Given the description of an element on the screen output the (x, y) to click on. 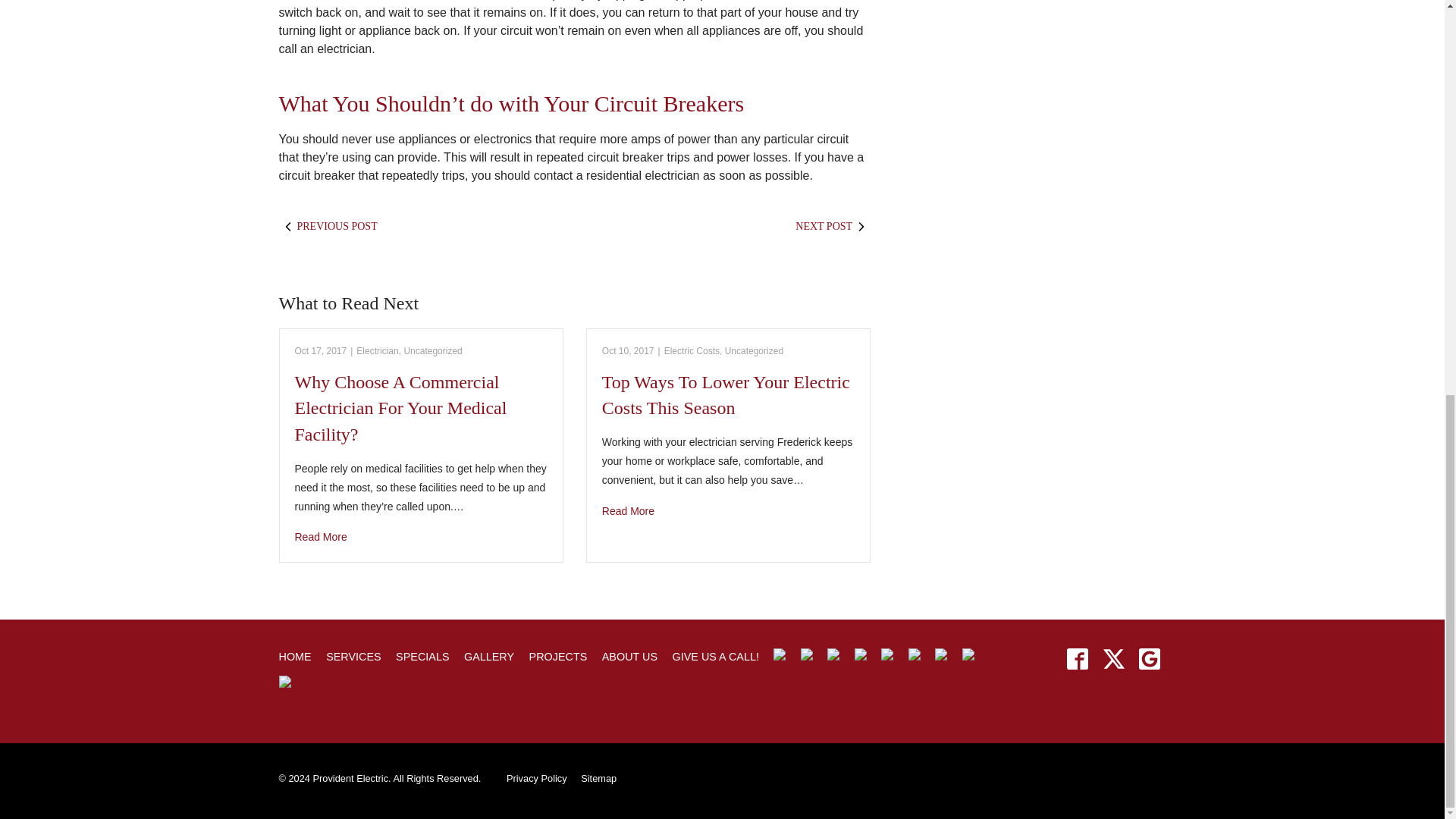
facebook (1077, 658)
twitter (1113, 658)
google (1149, 658)
Top Ways To Lower Your Electric Costs This Season (728, 511)
